Given the description of an element on the screen output the (x, y) to click on. 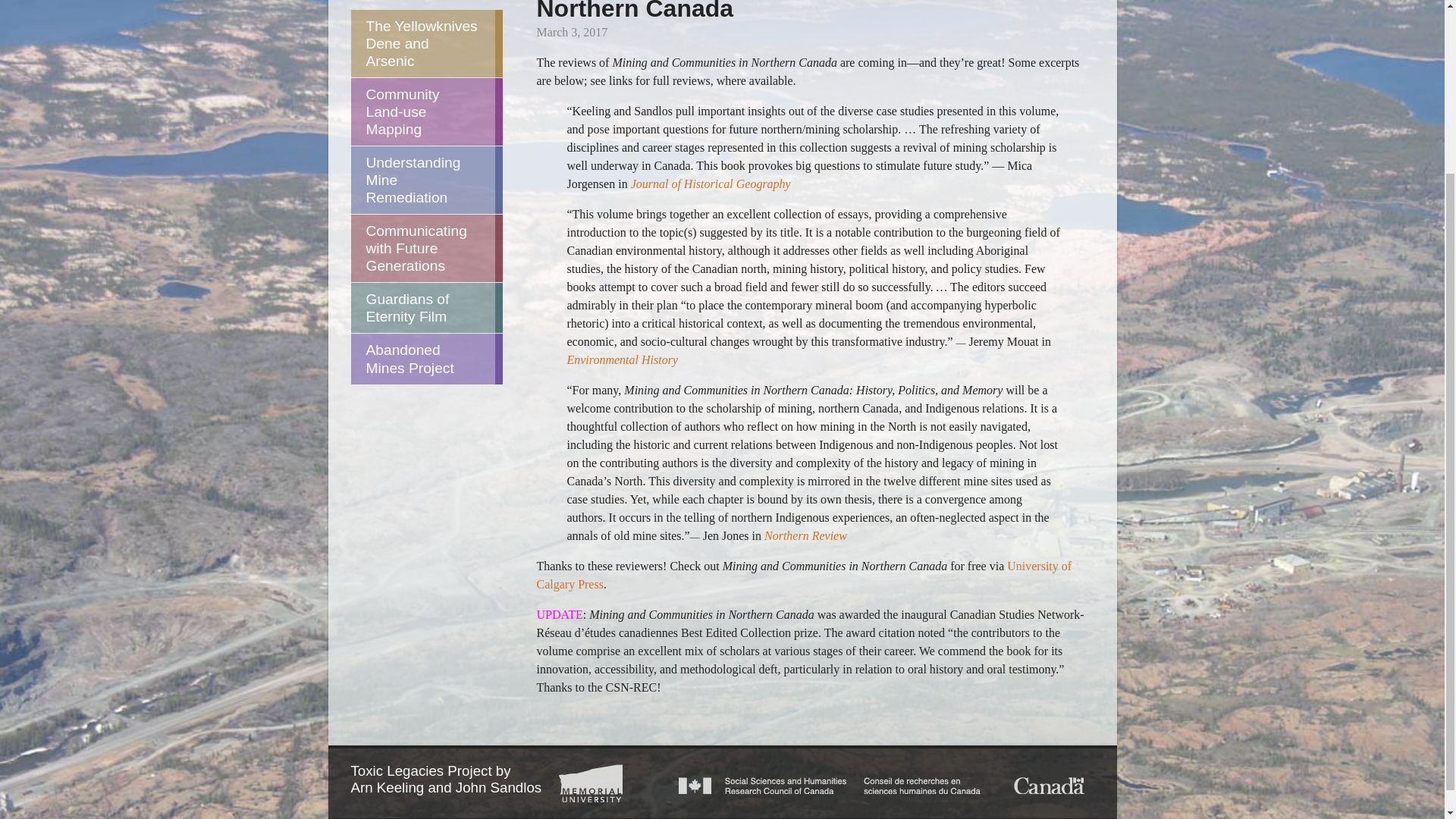
Community Land-use Mapping (422, 111)
University of Calgary Press (803, 574)
Guardians of Eternity Film (422, 307)
Environmental History (622, 359)
Understanding Mine Remediation (422, 179)
The Yellowknives Dene and Arsenic (422, 42)
Northern Review (805, 535)
Communicating with Future Generations (422, 247)
Abandoned Mines Project (422, 358)
Memorial University (591, 783)
Journal of Historical Geography (708, 183)
